Given the description of an element on the screen output the (x, y) to click on. 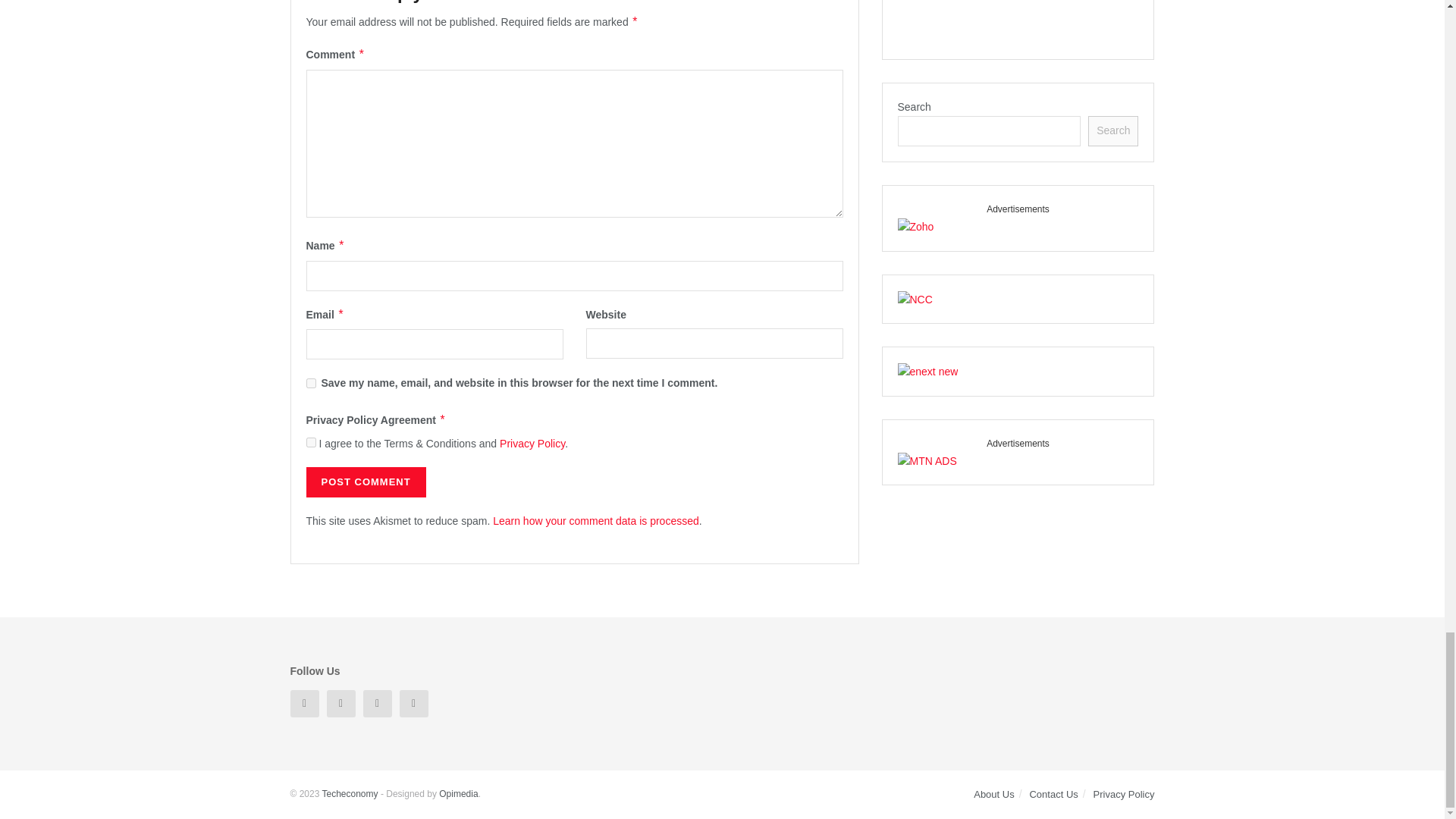
on (310, 442)
Post Comment (365, 481)
Opmedia (458, 793)
yes (310, 383)
Techeconomy (349, 793)
